Given the description of an element on the screen output the (x, y) to click on. 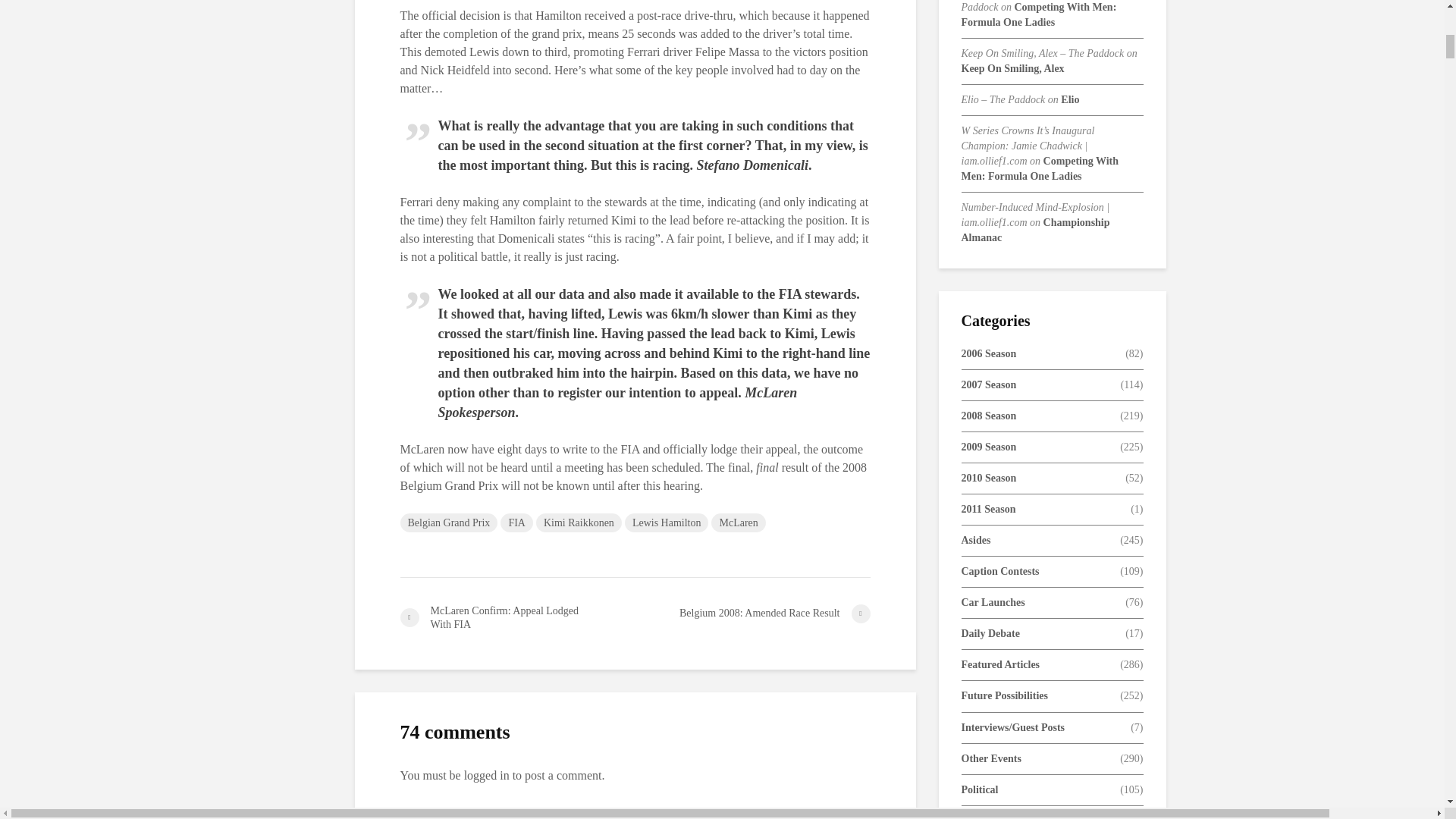
Kimi Raikkonen (578, 522)
FIA (516, 522)
Belgium 2008: Amended Race Result (752, 613)
logged in (486, 775)
Belgian Grand Prix (448, 522)
McLaren Confirm: Appeal Lodged With FIA (517, 617)
McLaren (738, 522)
Lewis Hamilton (666, 522)
